Given the description of an element on the screen output the (x, y) to click on. 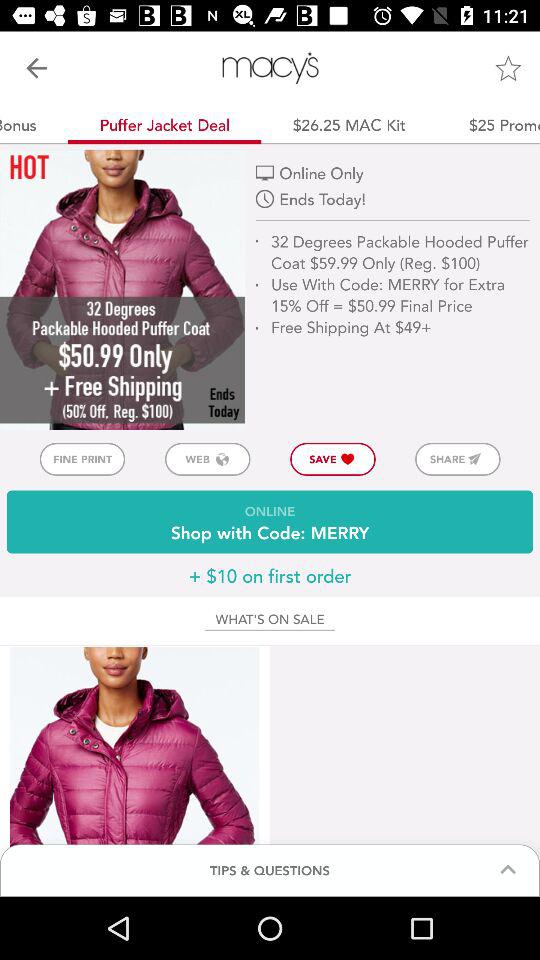
press icon to the right of save icon (457, 458)
